Given the description of an element on the screen output the (x, y) to click on. 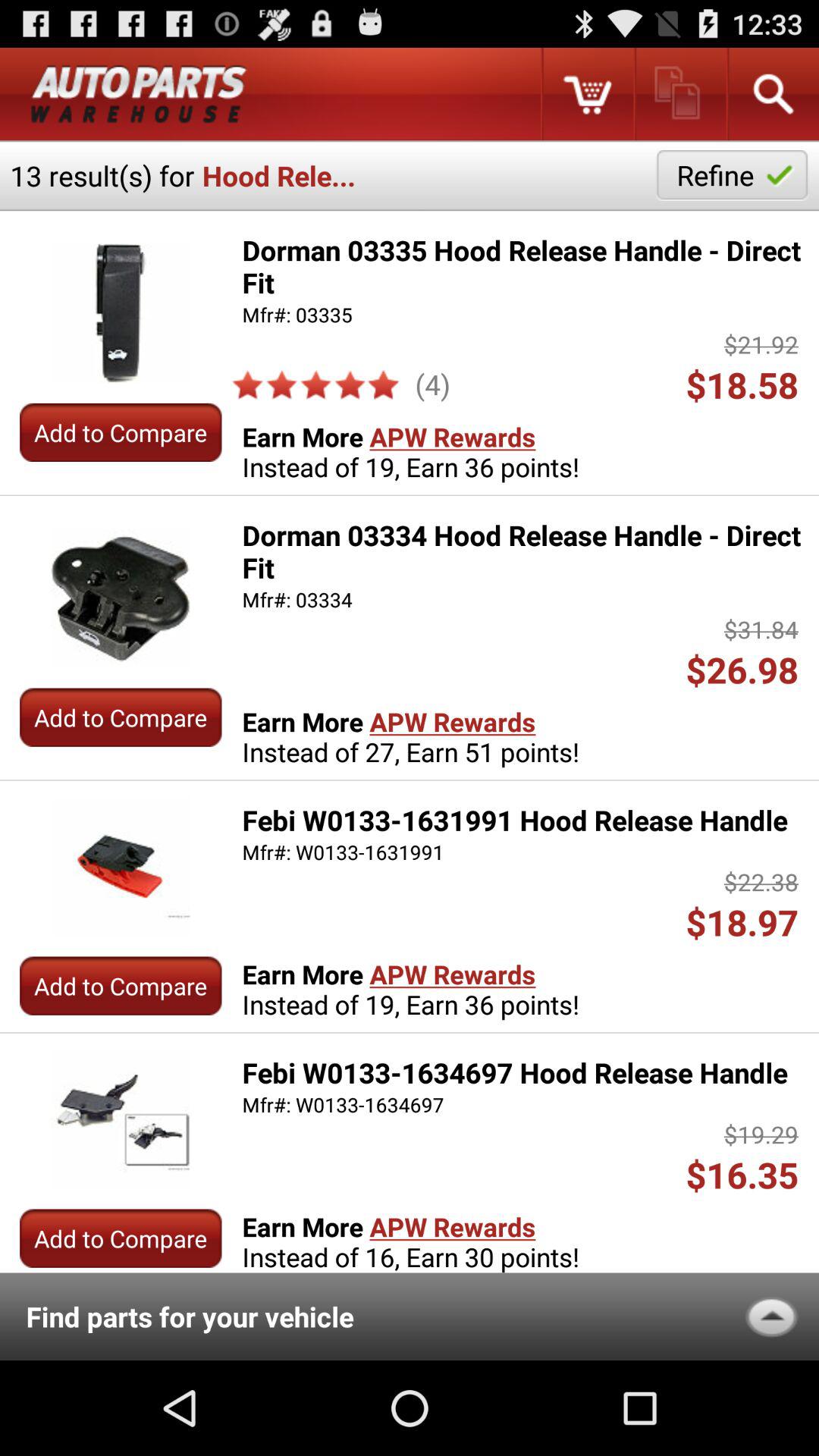
search an item (772, 93)
